Given the description of an element on the screen output the (x, y) to click on. 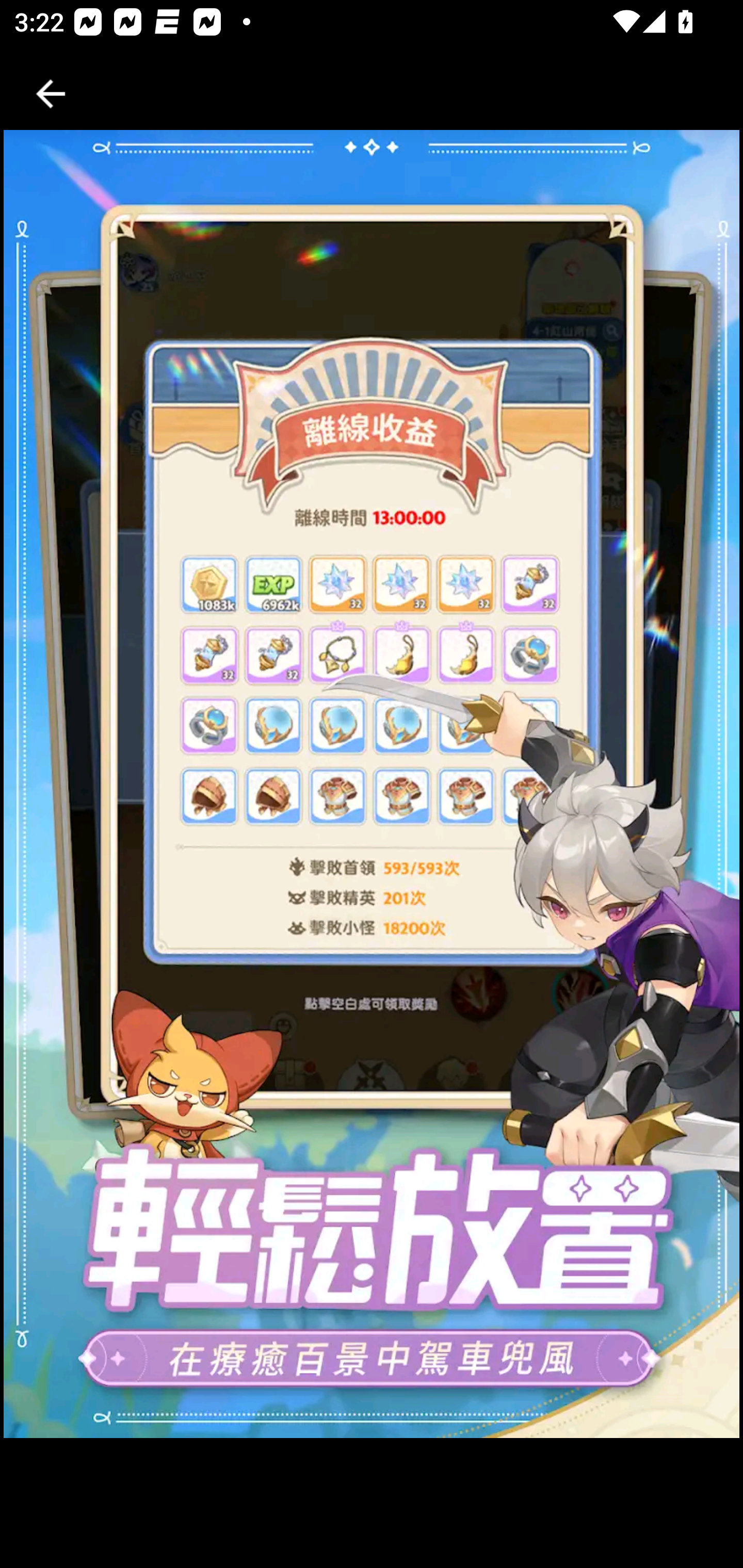
Back (50, 93)
